Given the description of an element on the screen output the (x, y) to click on. 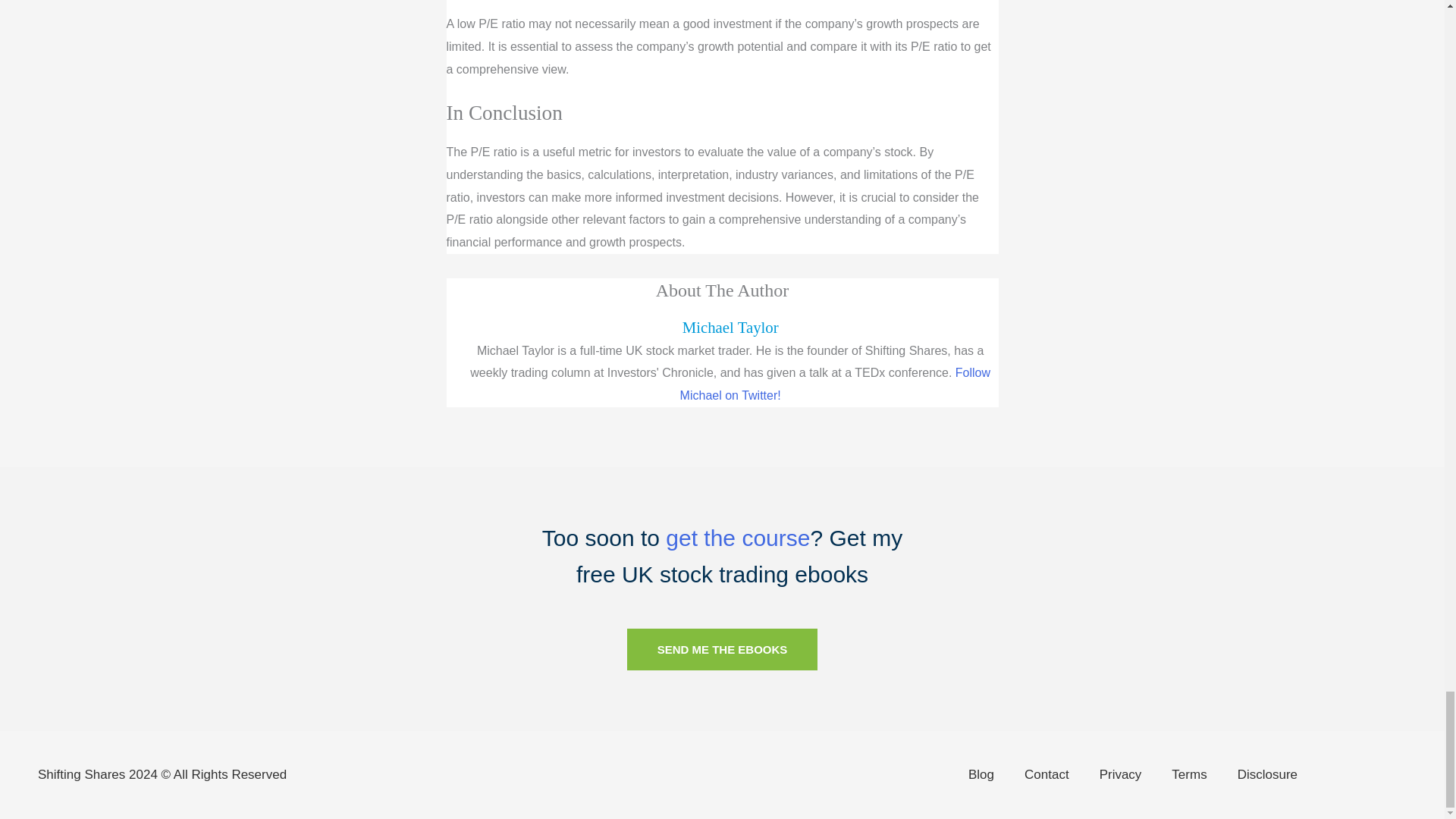
Contact (1046, 774)
Michael Taylor (730, 327)
Disclosure (1268, 774)
Privacy (1120, 774)
get the course (737, 537)
SEND ME THE EBOOKS (722, 649)
Follow Michael on Twitter! (834, 384)
Terms (1188, 774)
Blog (981, 774)
